Given the description of an element on the screen output the (x, y) to click on. 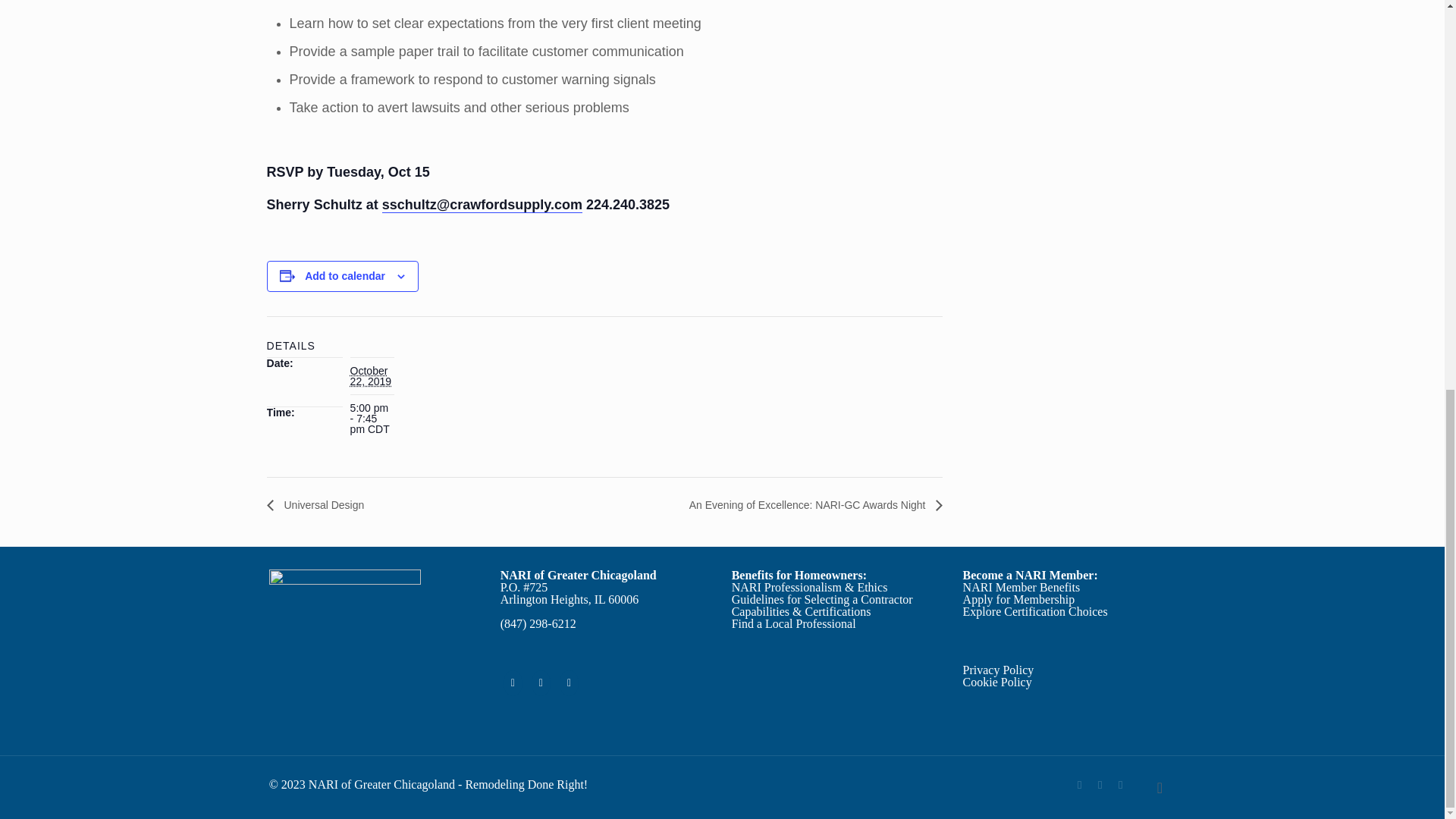
2019-10-22 (370, 375)
2019-10-22 (372, 418)
LinkedIn (1100, 784)
Instagram (1120, 784)
Facebook (1079, 784)
